Given the description of an element on the screen output the (x, y) to click on. 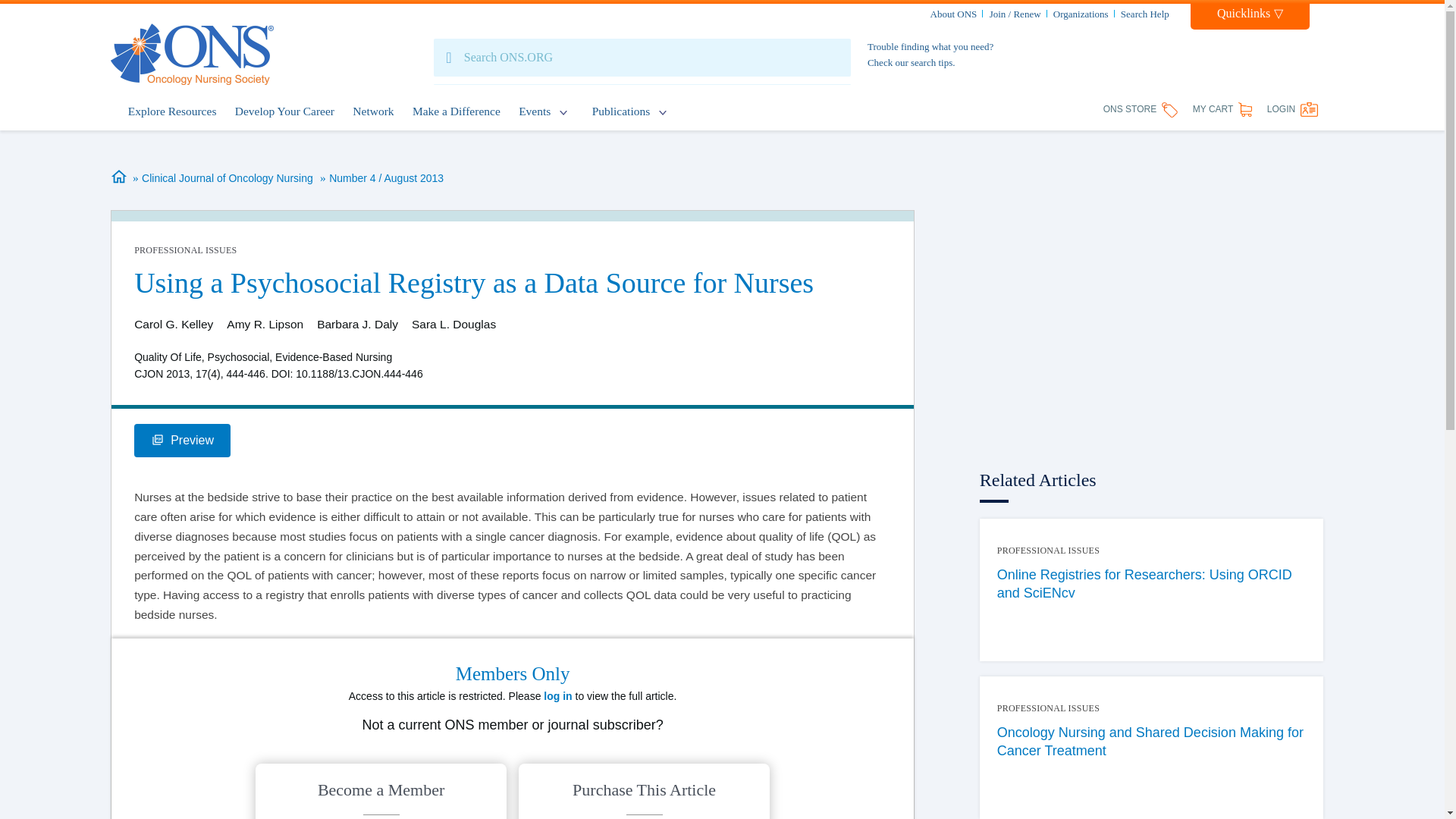
Search Help (1145, 13)
About ONS (953, 13)
Organizations (1080, 13)
Check our search tips. (911, 61)
Homepage (119, 177)
Quicklinks (1249, 16)
ONS Homepage (191, 54)
Trouble finding what you need? (929, 46)
